Given the description of an element on the screen output the (x, y) to click on. 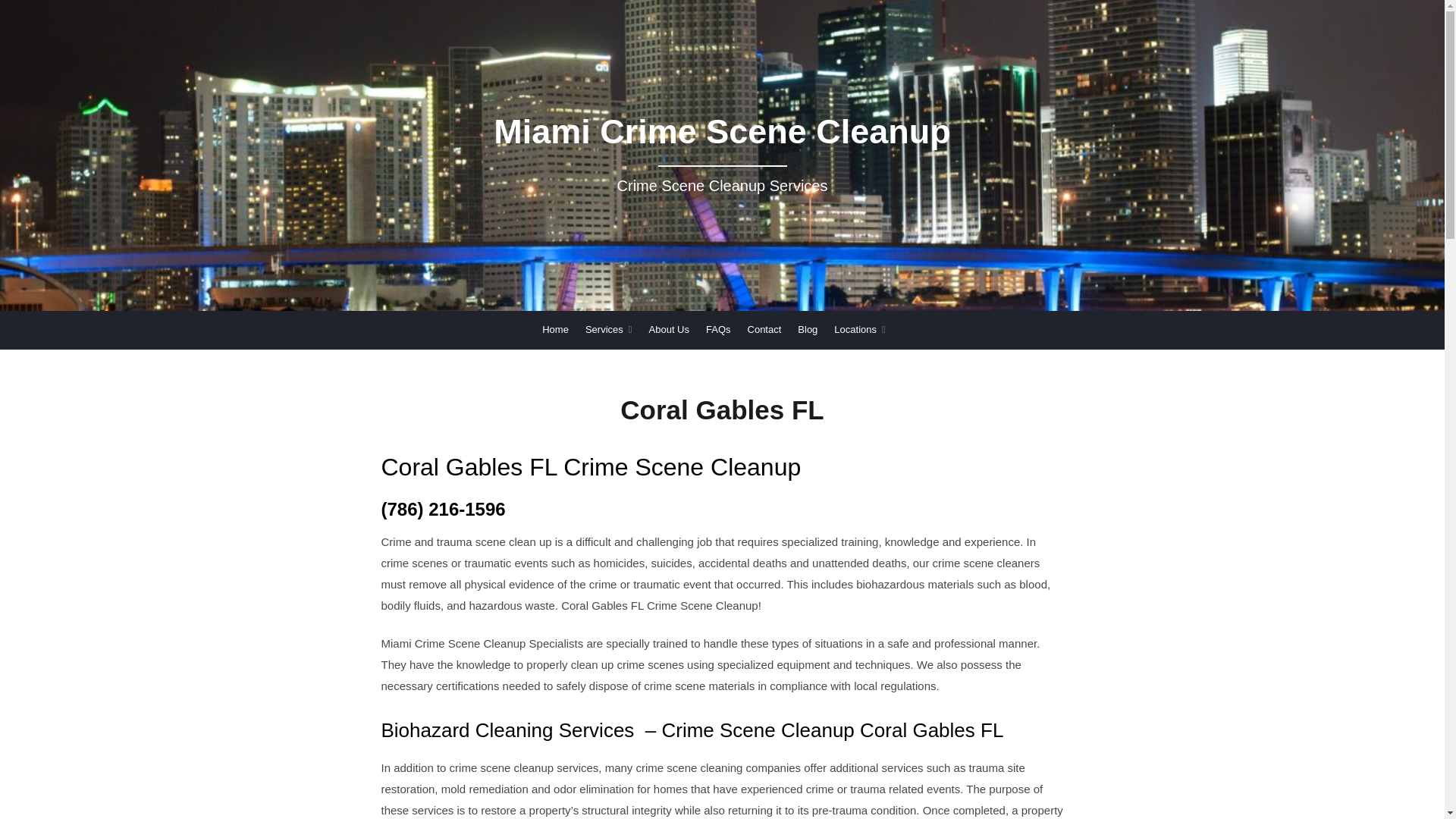
Miami Crime Scene Cleanup (721, 138)
FAQs (718, 329)
Contact (764, 329)
Home (555, 329)
Locations (859, 329)
Services (608, 329)
Blog (806, 329)
About Us (668, 329)
